Given the description of an element on the screen output the (x, y) to click on. 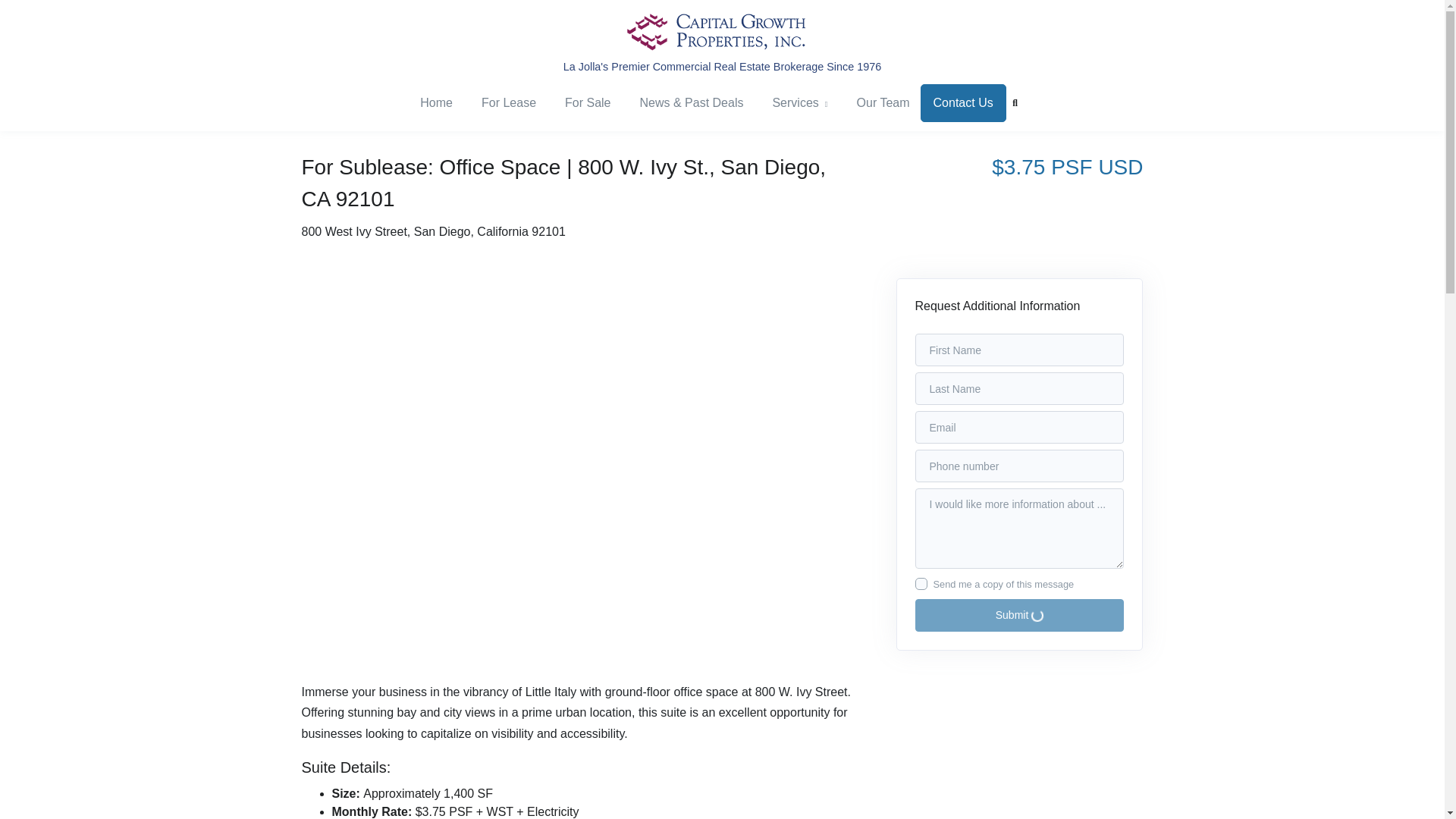
Our Team (879, 103)
Contact Us (963, 103)
For Sale (584, 103)
Submit (1019, 614)
For Lease (505, 103)
Services (796, 103)
